Given the description of an element on the screen output the (x, y) to click on. 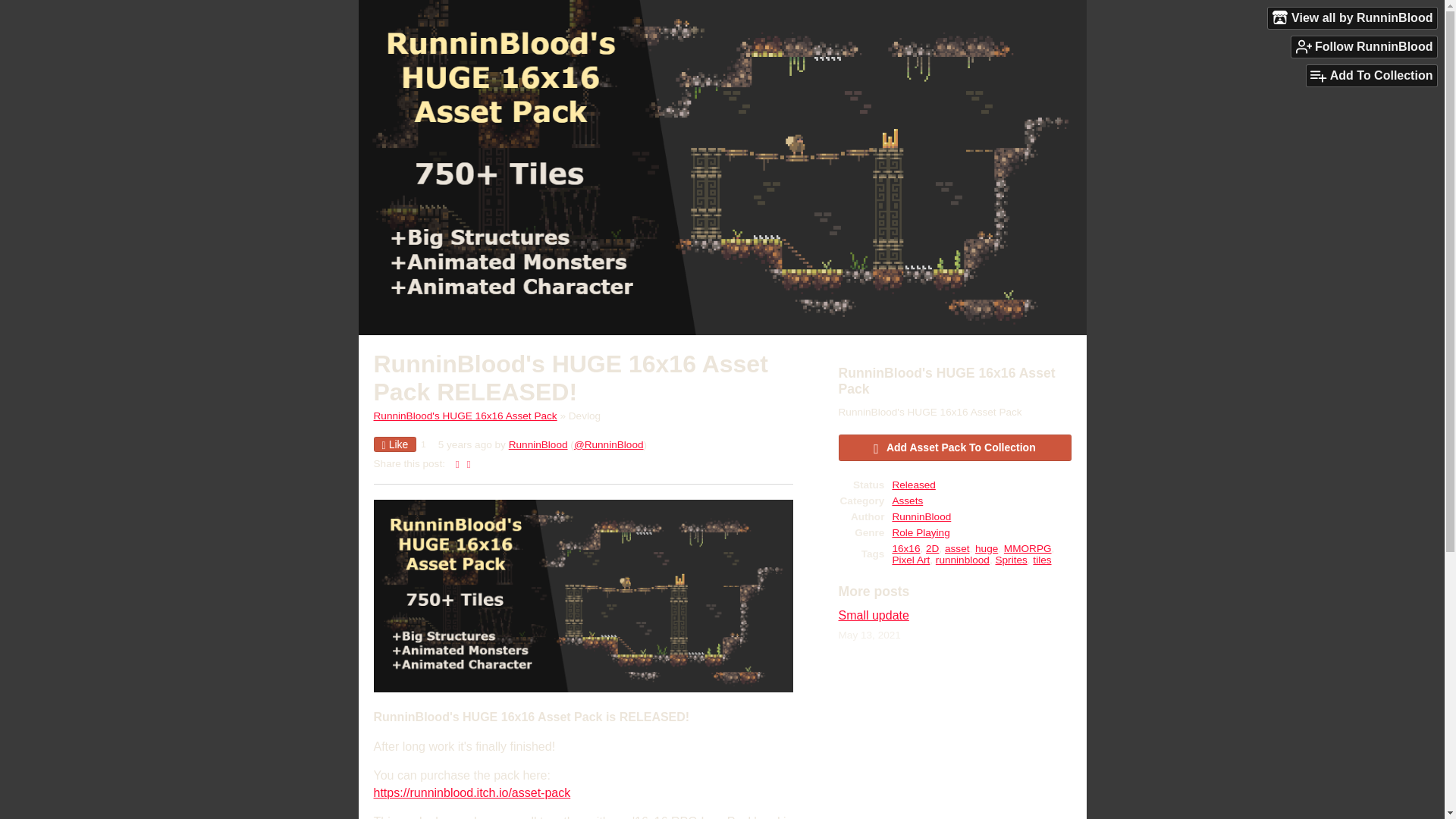
Released (912, 484)
runninblood (963, 559)
RunninBlood (920, 516)
Assets (907, 500)
Role Playing (920, 532)
Small update (873, 615)
Sprites (1010, 559)
2D (932, 548)
View all by RunninBlood (1352, 17)
Follow RunninBlood (1364, 46)
MMORPG (1027, 548)
huge (986, 548)
Like (394, 444)
Add To Collection (1371, 75)
asset (956, 548)
